Given the description of an element on the screen output the (x, y) to click on. 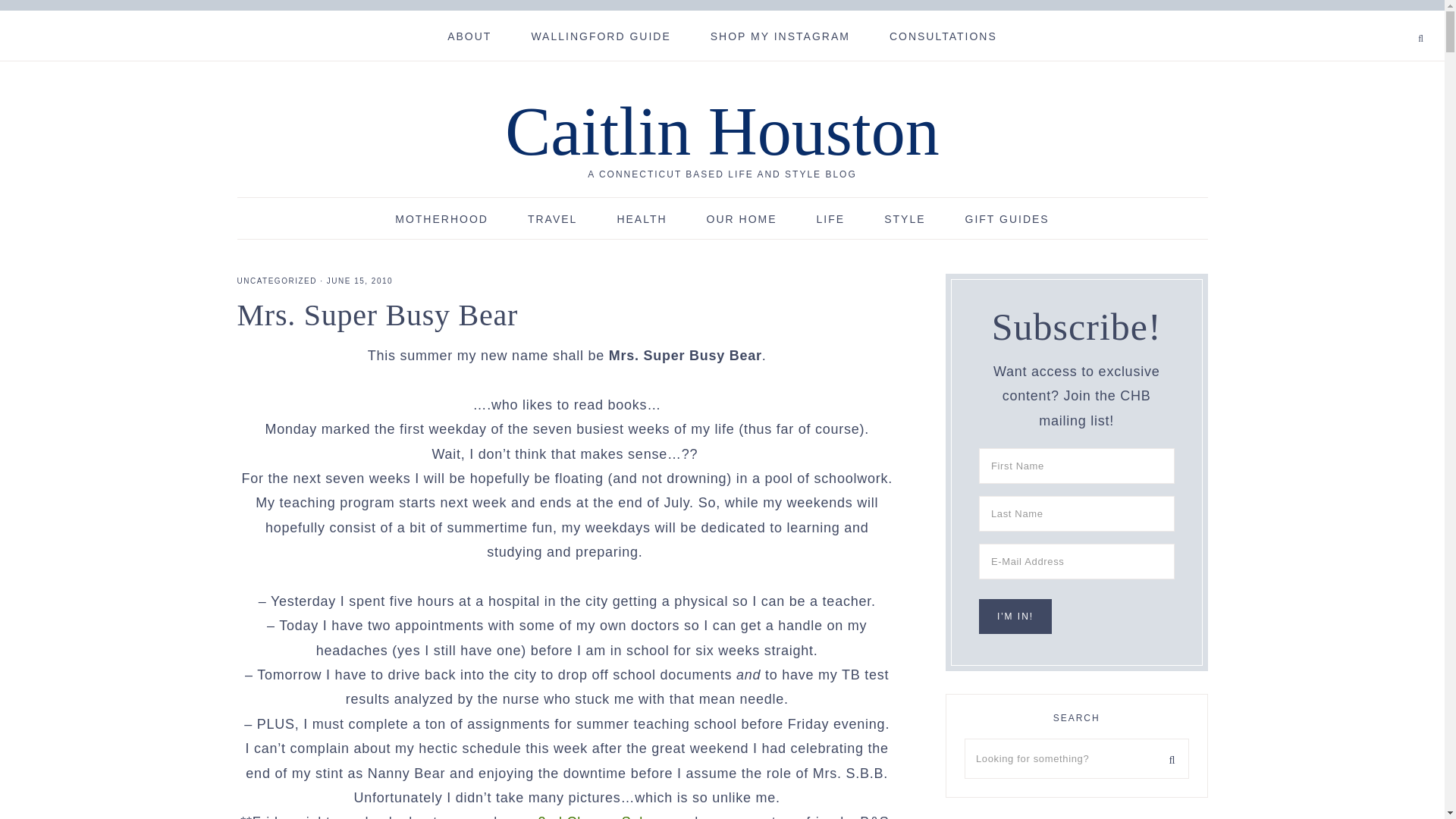
TRAVEL (552, 218)
CONSULTATIONS (942, 34)
WALLINGFORD GUIDE (600, 34)
MOTHERHOOD (441, 218)
Caitlin Houston (722, 131)
SHOP MY INSTAGRAM (779, 34)
HEALTH (640, 218)
GIFT GUIDES (1006, 218)
OUR HOME (741, 218)
ABOUT (469, 34)
